Given the description of an element on the screen output the (x, y) to click on. 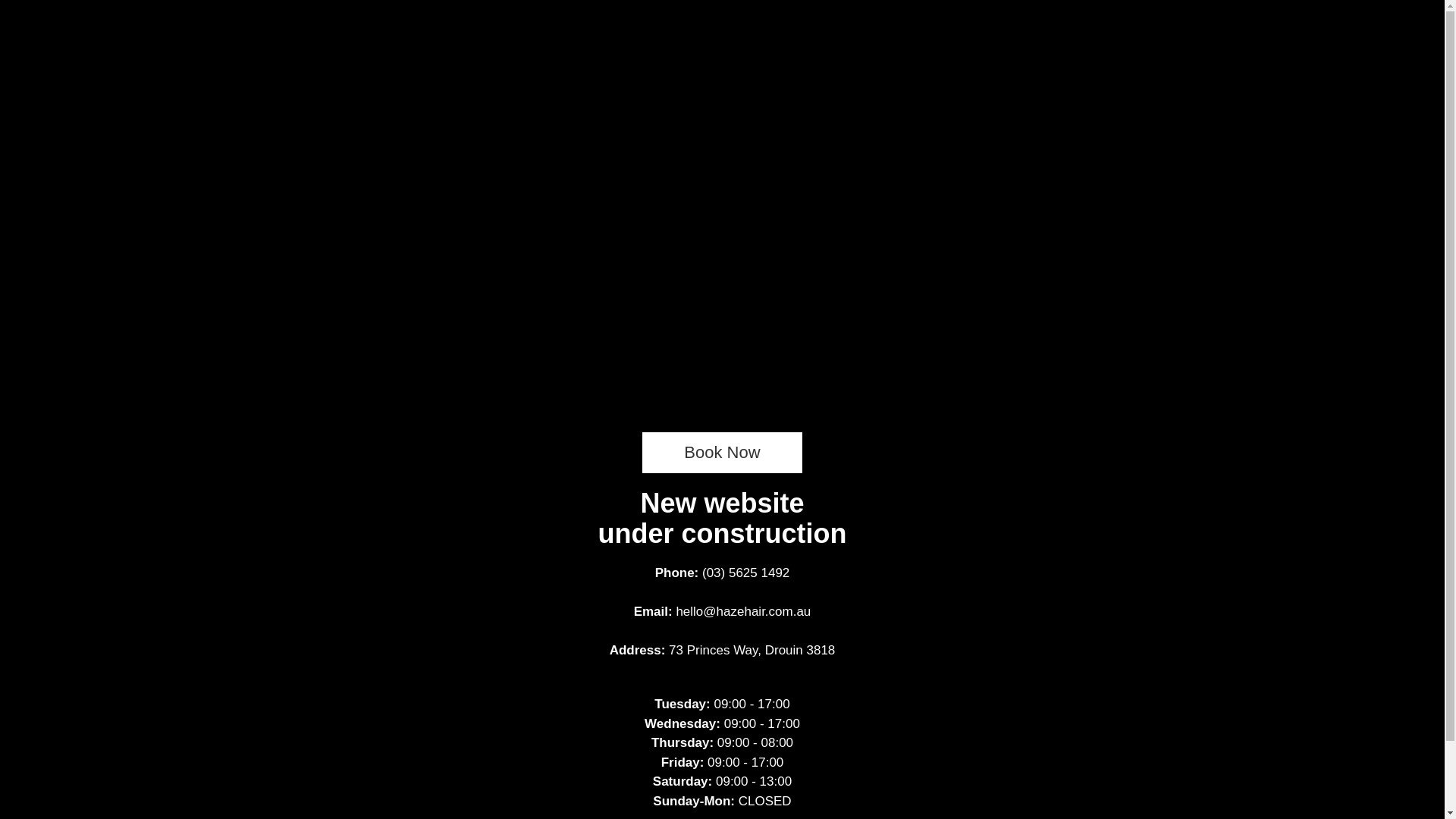
Book Now Element type: text (721, 452)
